Given the description of an element on the screen output the (x, y) to click on. 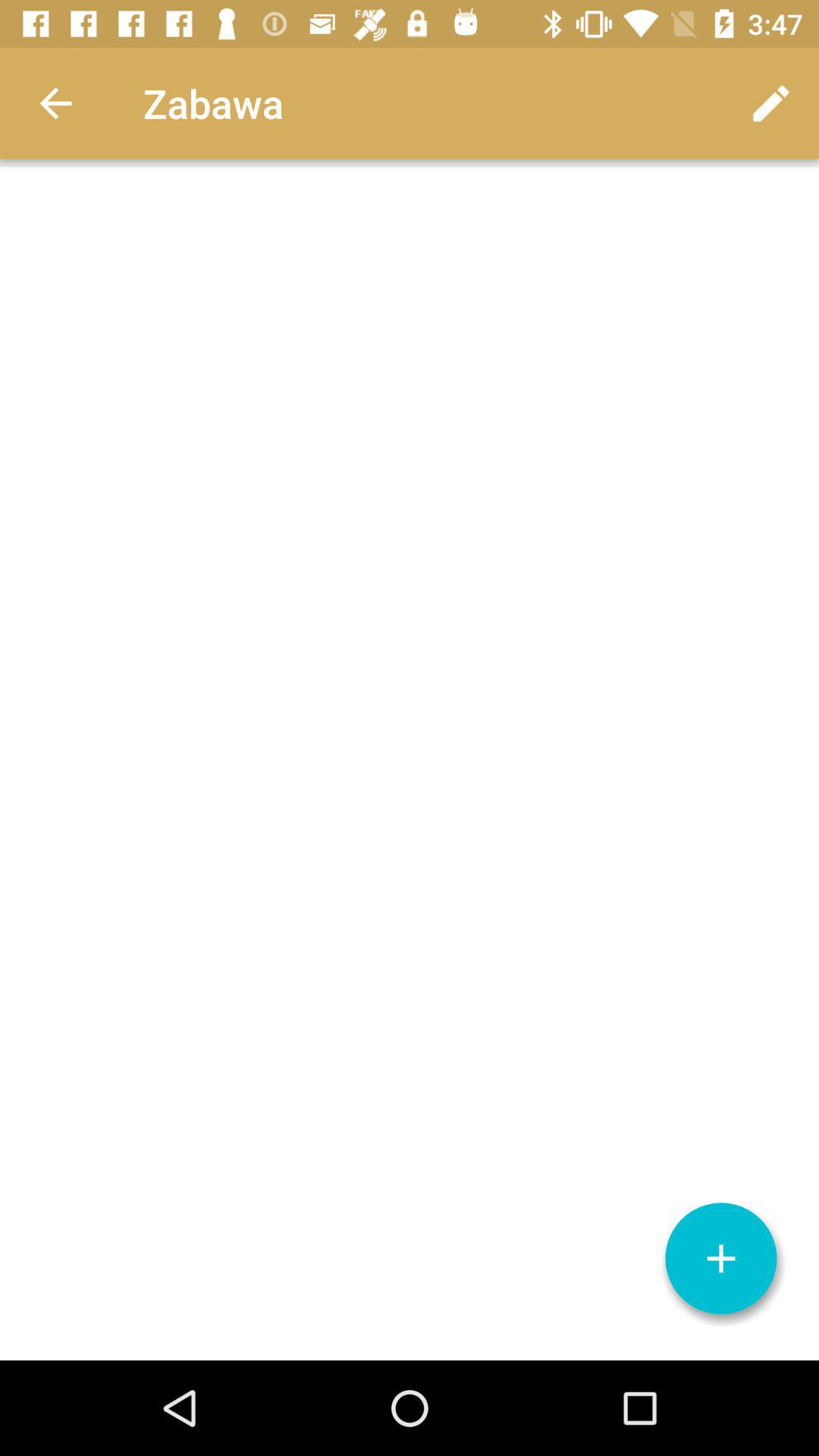
choose the icon at the top right corner (771, 103)
